Given the description of an element on the screen output the (x, y) to click on. 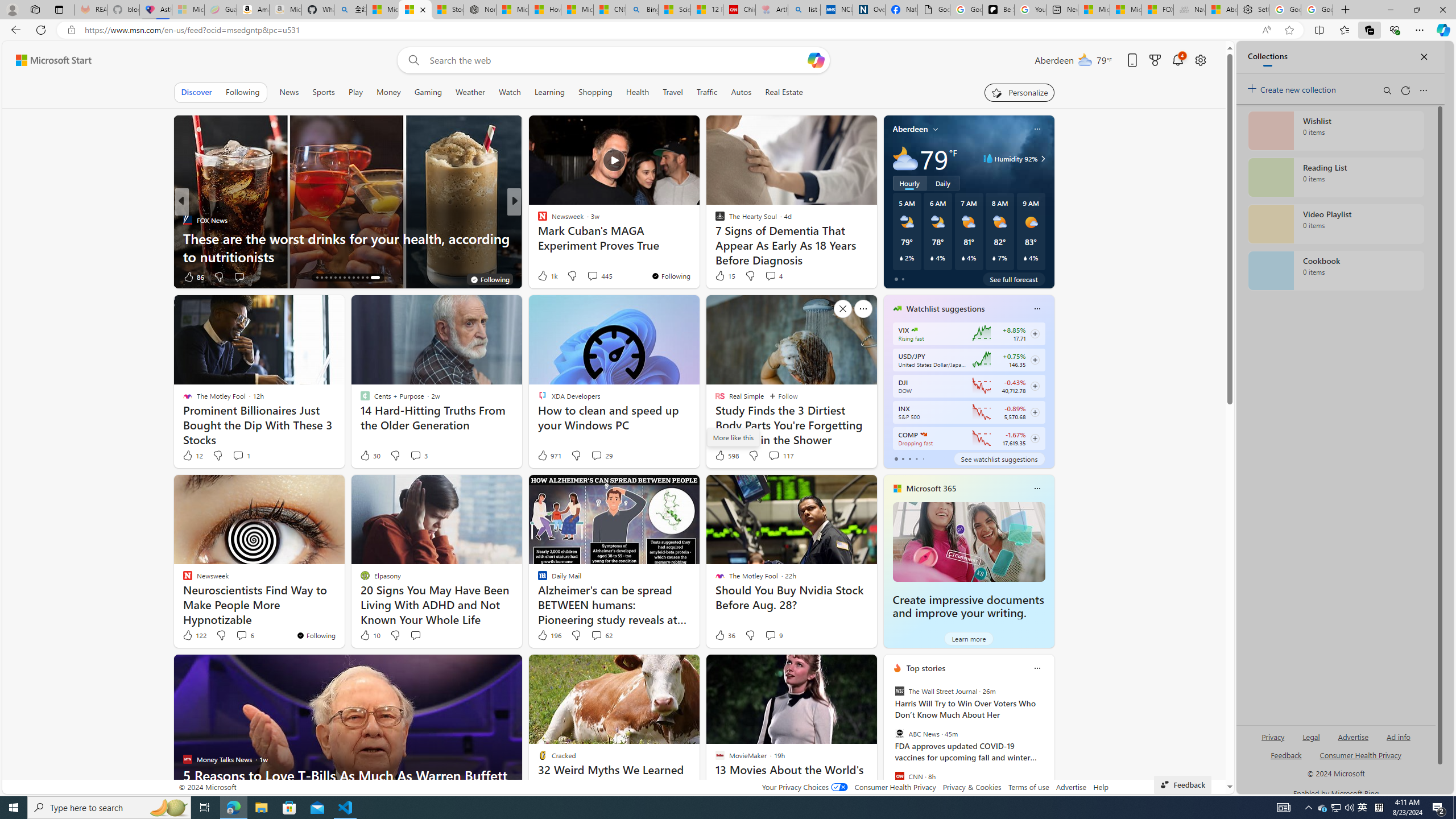
Hide this story (841, 668)
Google Analytics Opt-out Browser Add-on Download Page (933, 9)
CNN (898, 775)
View comments 29 Comment (601, 455)
Create impressive documents and improve your writing. (968, 541)
View comments 4 Comment (770, 275)
Aberdeen (910, 128)
